Given the description of an element on the screen output the (x, y) to click on. 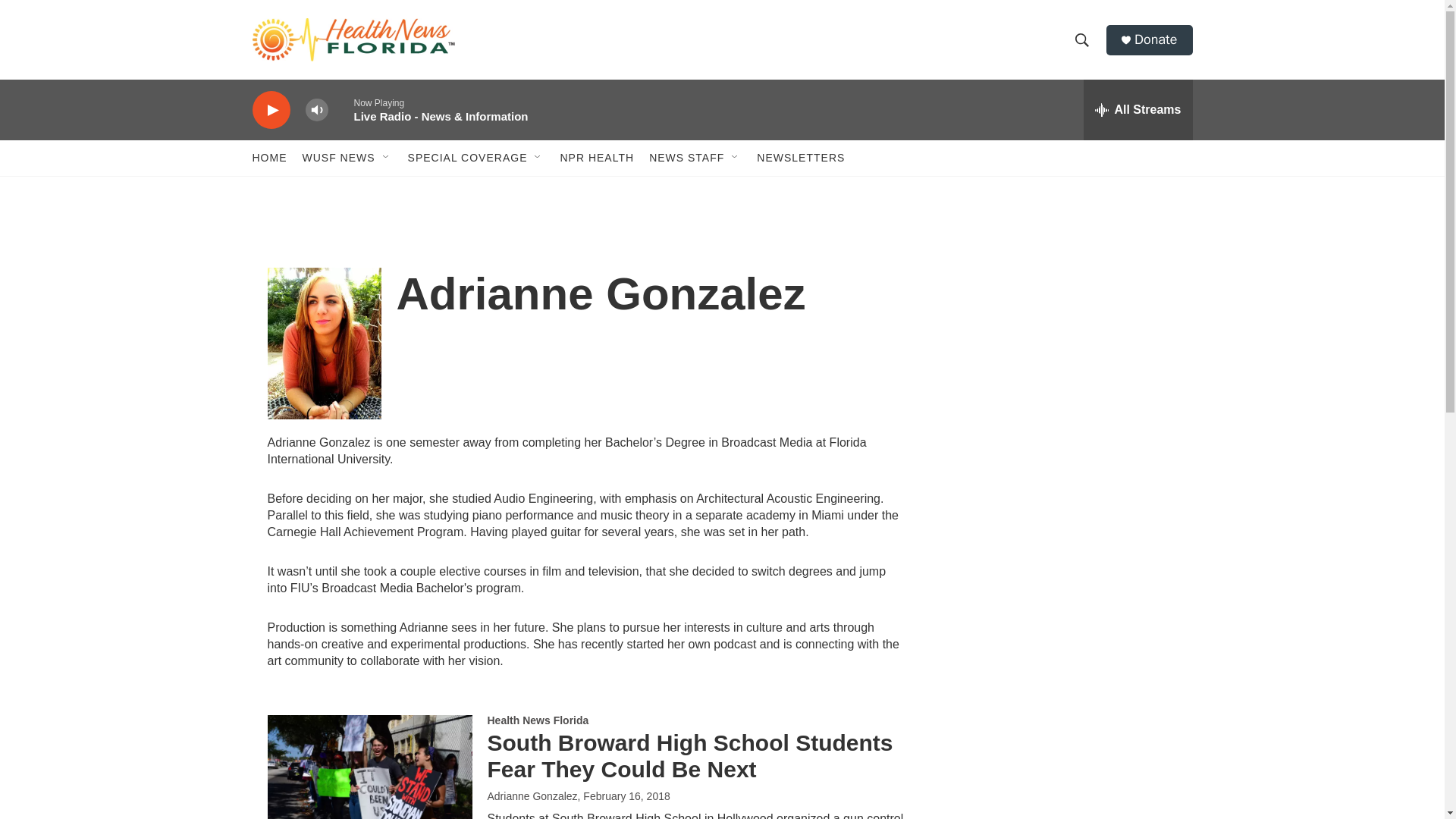
3rd party ad content (1062, 740)
3rd party ad content (1062, 536)
3rd party ad content (1062, 316)
